Given the description of an element on the screen output the (x, y) to click on. 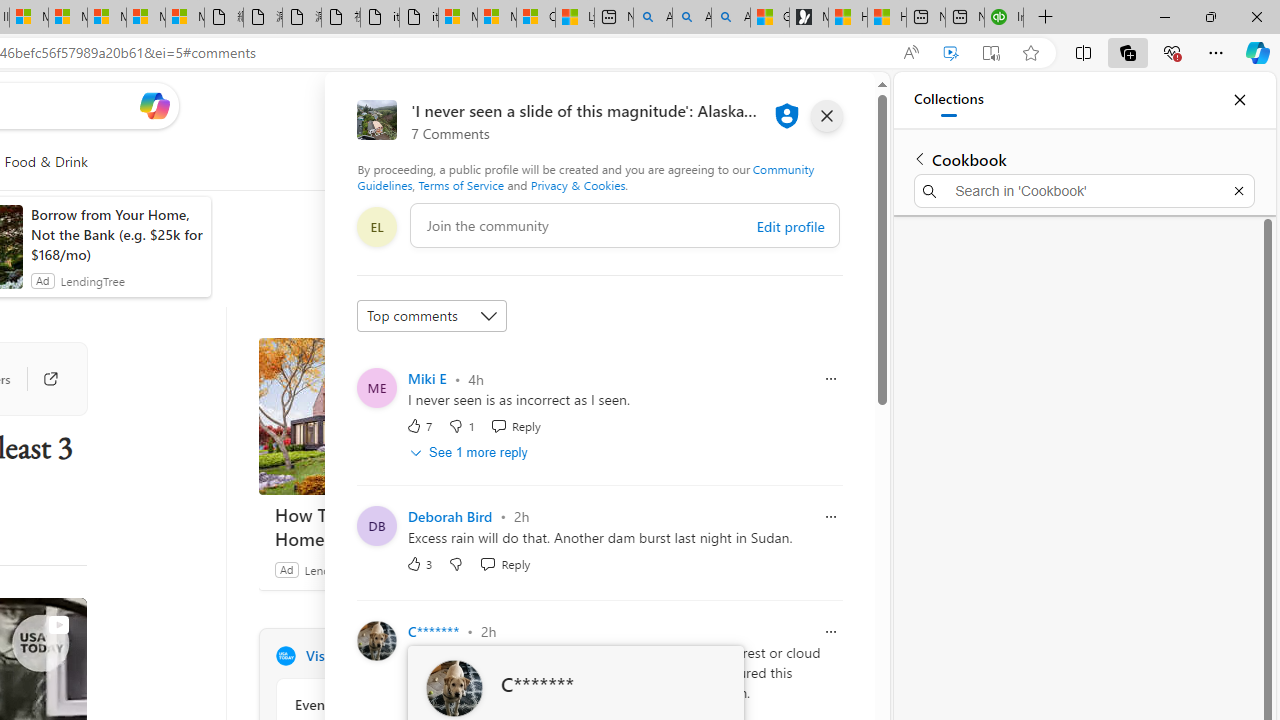
Exit search (1238, 190)
Consumer Health Data Privacy Policy (536, 17)
3 Like (419, 563)
See 1 more reply (470, 452)
C******* (433, 631)
Back to list of collections (920, 158)
Report comment (831, 630)
